Given the description of an element on the screen output the (x, y) to click on. 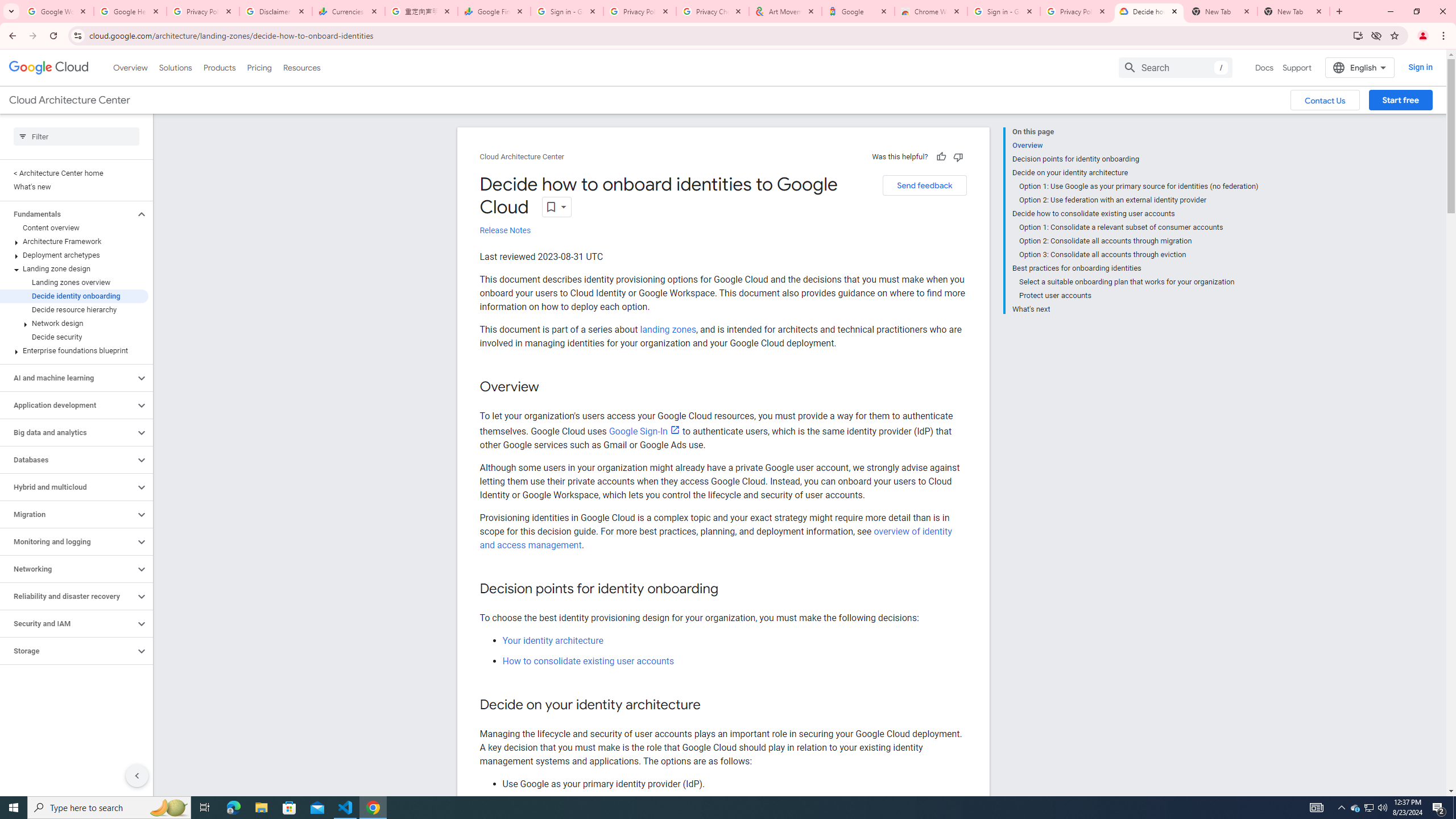
Landing zone design (74, 269)
Decision points for identity onboarding (1134, 159)
Support (1296, 67)
Helpful (940, 156)
Google Cloud (48, 67)
Decide identity onboarding (74, 296)
Open dropdown (556, 206)
Content overview (74, 228)
Storage (67, 650)
Decide how to consolidate existing user accounts (1134, 213)
Decide security (74, 336)
